Given the description of an element on the screen output the (x, y) to click on. 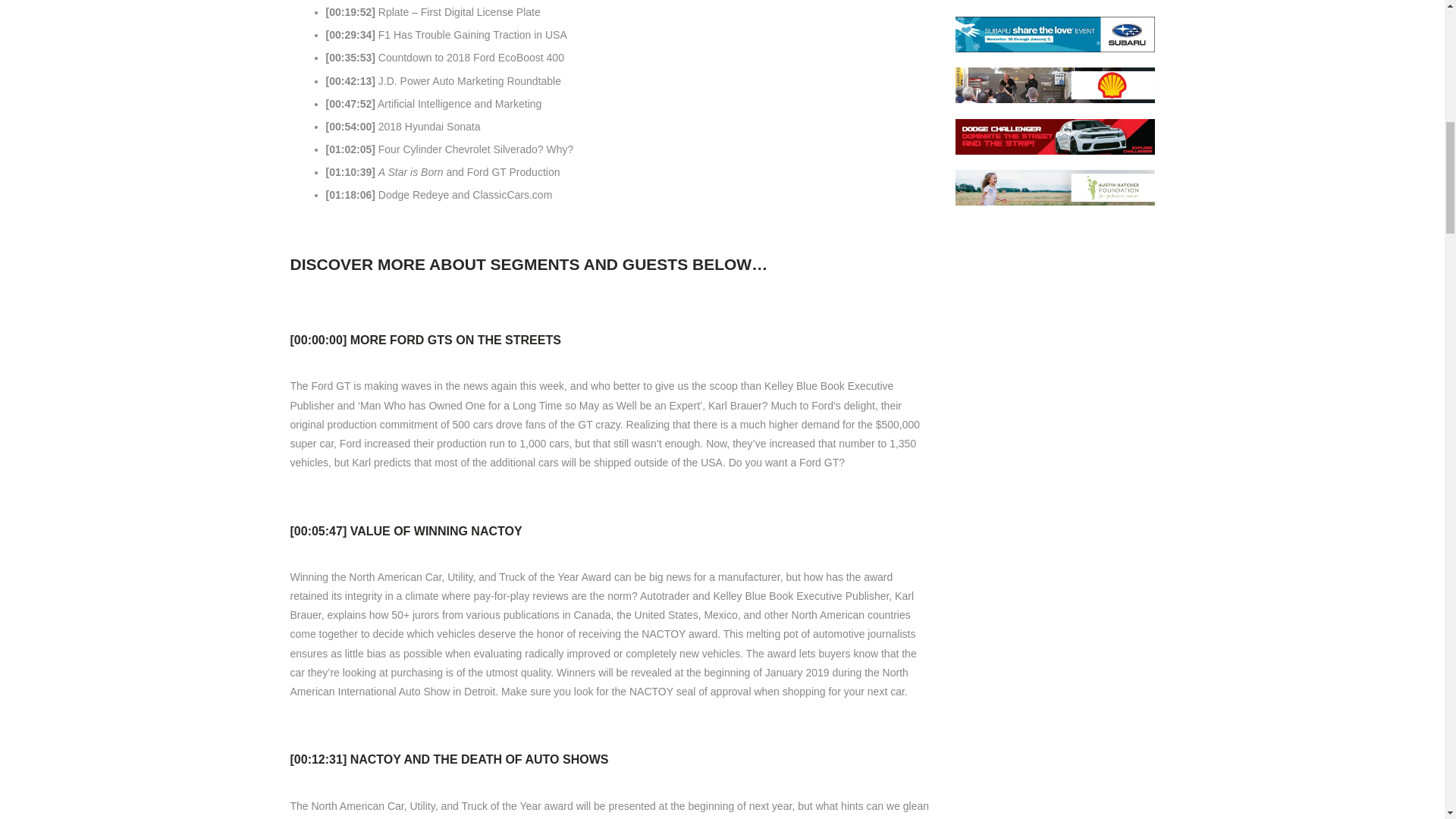
Subaru (1054, 34)
Foundation of Human Understanding (1054, 289)
Craftsman (1054, 238)
Austen Hatcher Foundation (1054, 187)
Patriot Outreach (1054, 340)
Shell (1054, 85)
Dodge Challenger (1054, 136)
